Given the description of an element on the screen output the (x, y) to click on. 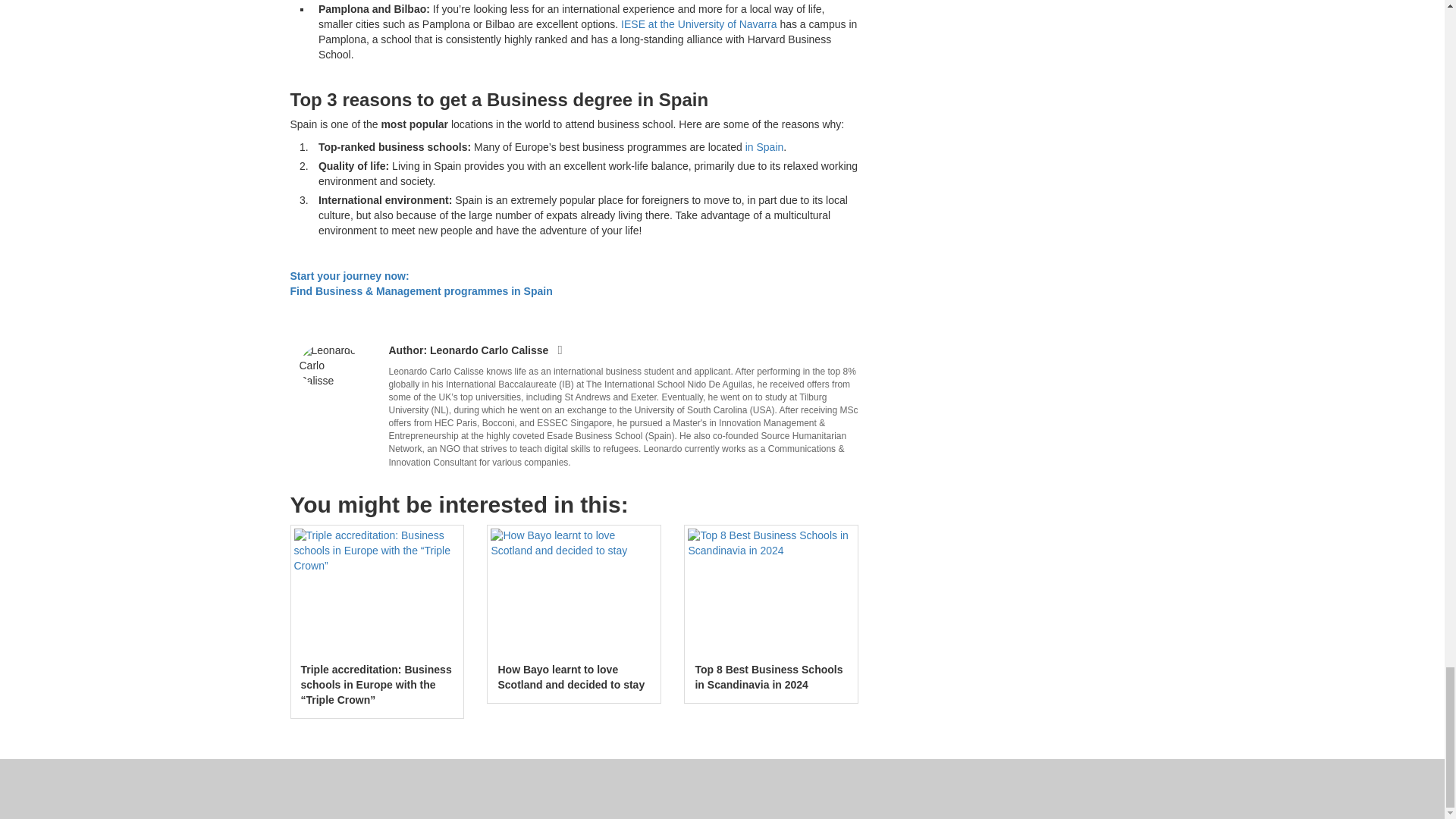
Top 8 Best Business Schools in Scandinavia in 2024 (770, 592)
Leonardo Carlo Calisse (328, 366)
How Bayo learnt to love Scotland and decided to stay (574, 592)
